Given the description of an element on the screen output the (x, y) to click on. 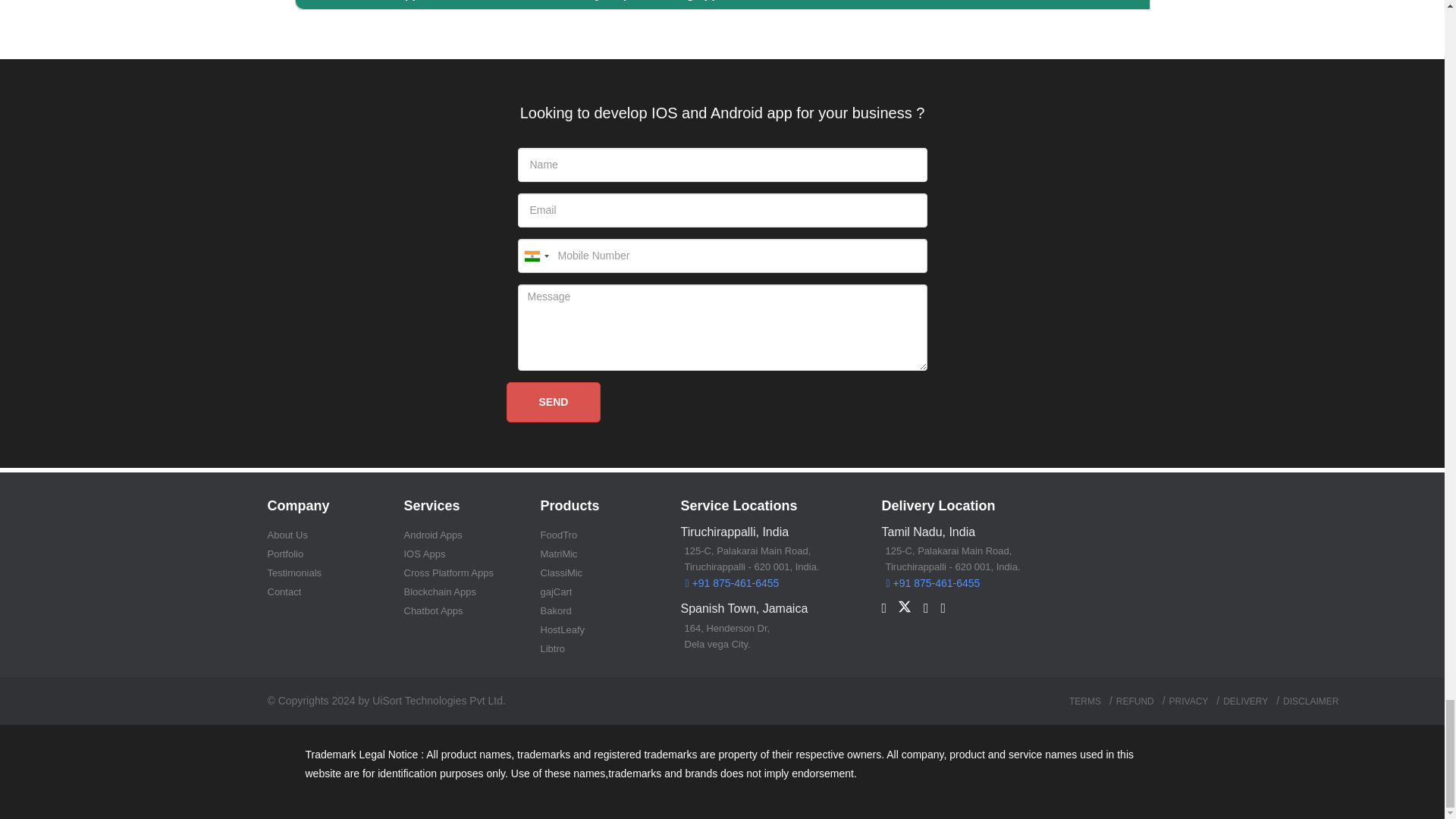
Send (553, 402)
